Given the description of an element on the screen output the (x, y) to click on. 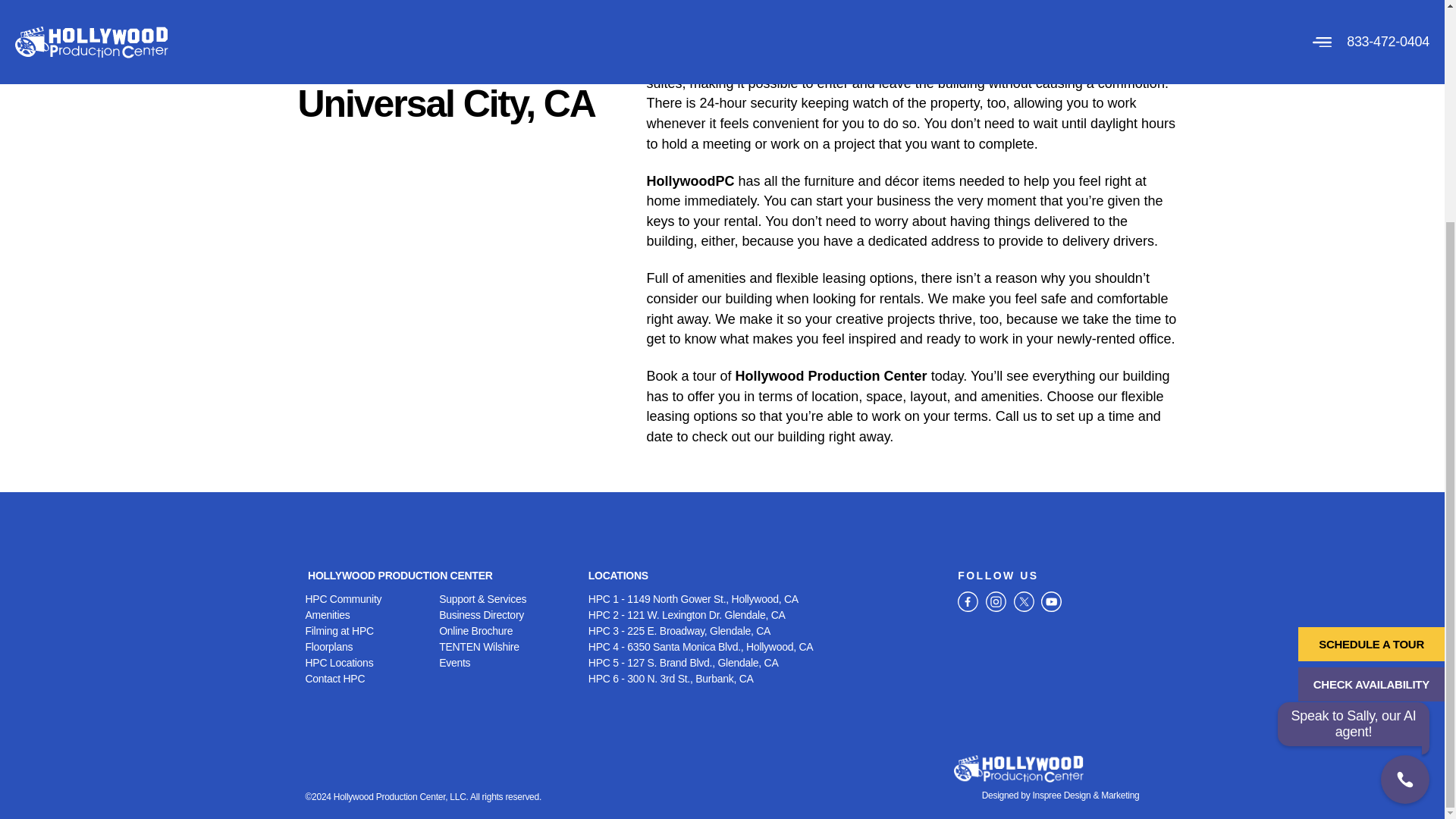
Filming at HPC (371, 631)
HPC 5 - 127 S. Brand Blvd., Glendale, CA (765, 662)
Amenities (371, 615)
TENTEN Wilshire (506, 647)
HPC Locations (371, 662)
Events (506, 662)
HPC 2 - 121 W. Lexington Dr. Glendale, CA (765, 615)
Floorplans (371, 647)
HPC 1 - 1149 North Gower St., Hollywood, CA (765, 599)
HPC 3 - 225 E. Broadway, Glendale, CA (765, 631)
HollywoodPC (689, 181)
HPC 6 - 300 N. 3rd St., Burbank, CA (765, 678)
Contact HPC (371, 678)
Hollywood Production Center (831, 376)
HPC (660, 62)
